Given the description of an element on the screen output the (x, y) to click on. 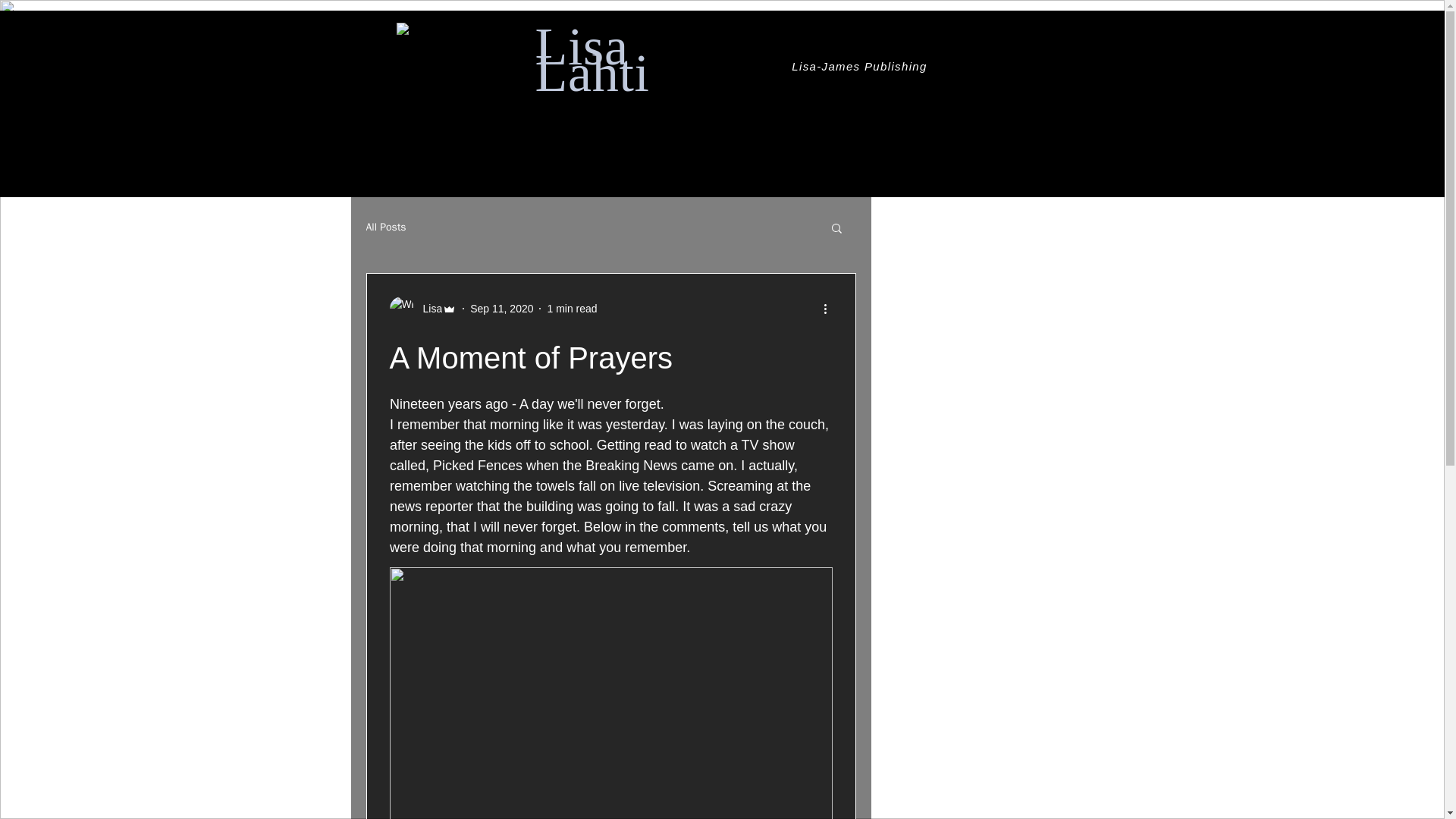
Sep 11, 2020 (501, 307)
1 min read (571, 307)
All Posts (385, 227)
Lisa (427, 308)
